Given the description of an element on the screen output the (x, y) to click on. 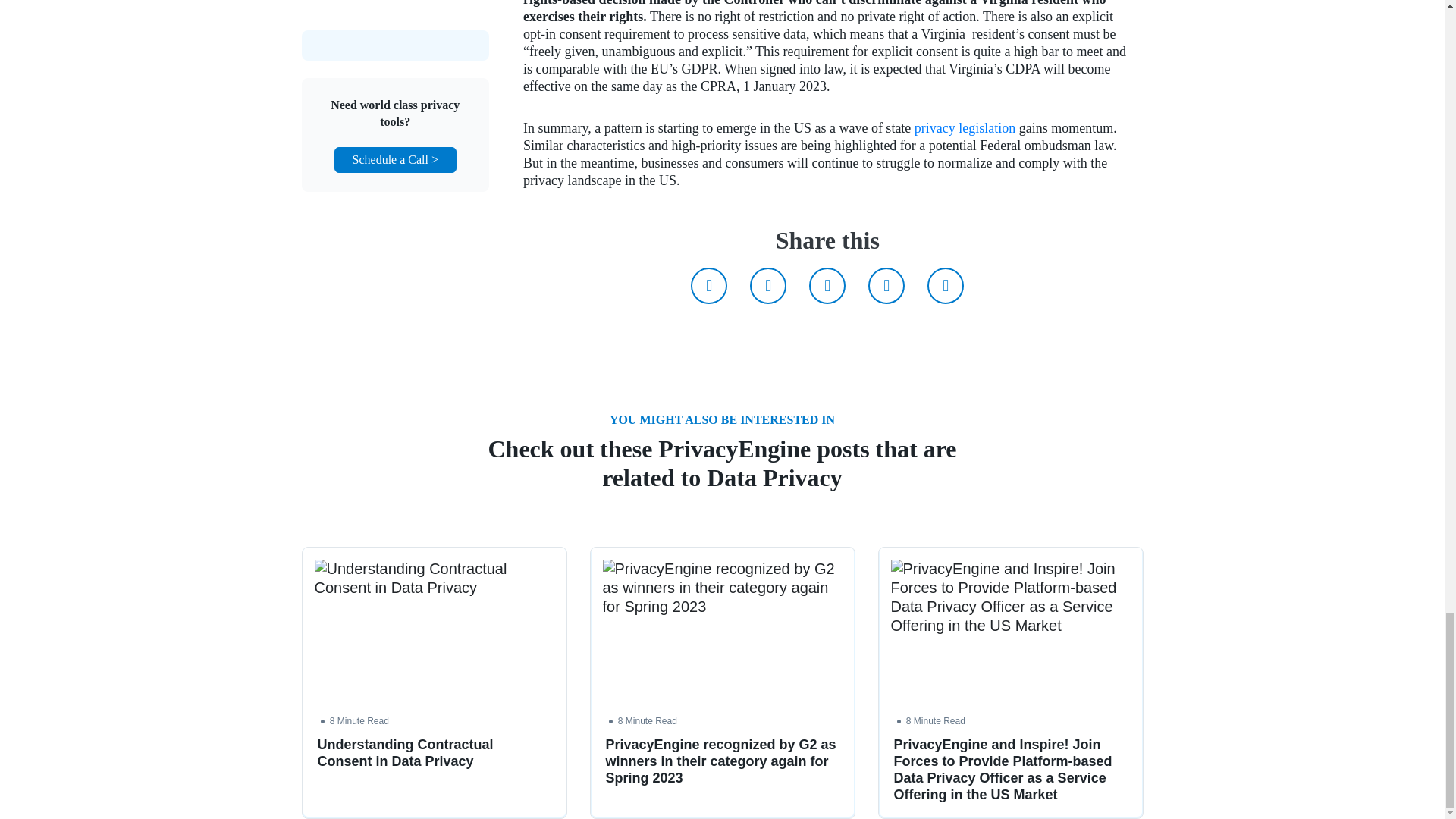
Copy url to clipboard (885, 285)
Email this (945, 285)
Share on Facebook (767, 285)
Share on LinkedIn (827, 285)
Share on X (708, 285)
